Given the description of an element on the screen output the (x, y) to click on. 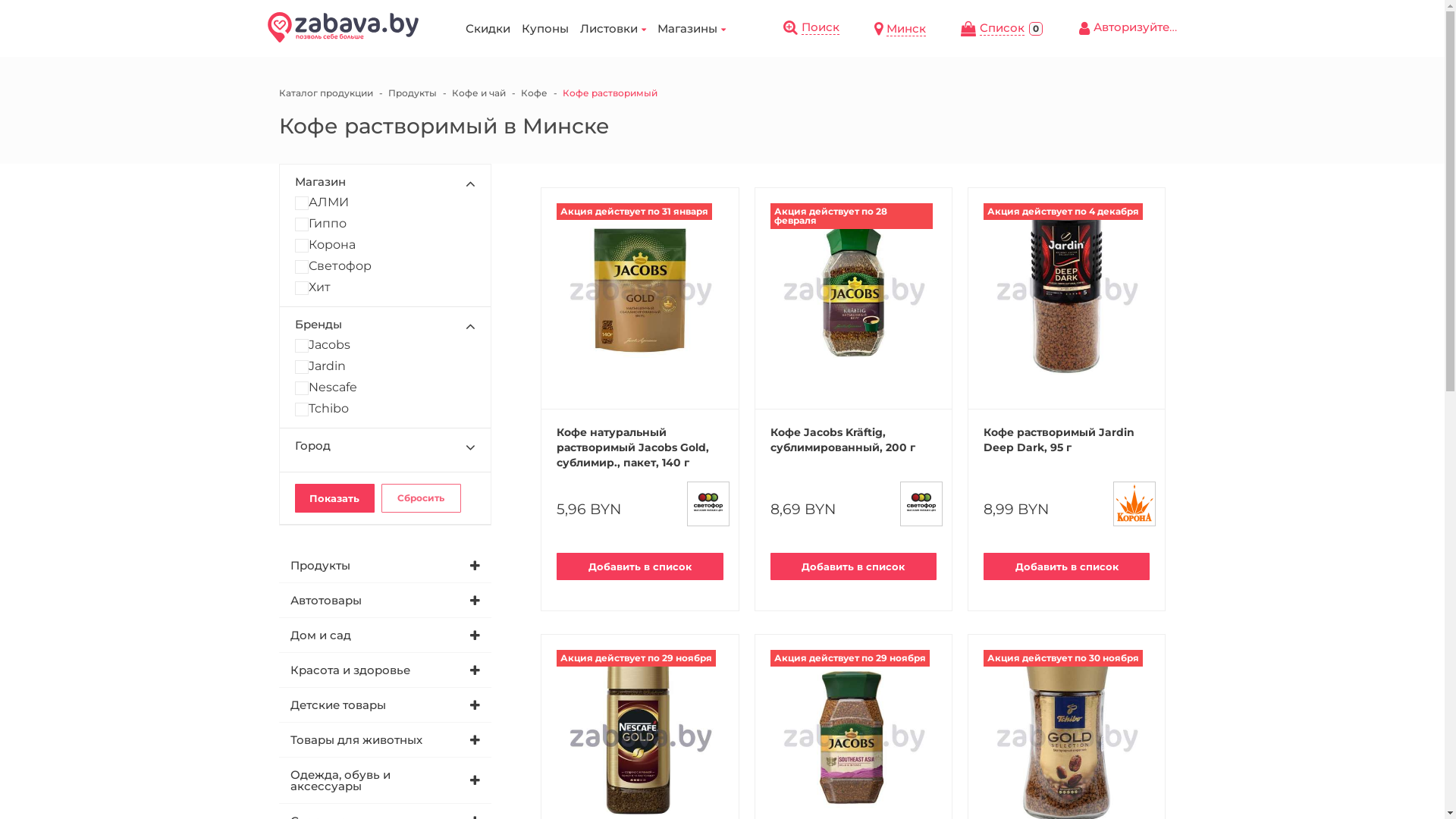
Zabava.by Element type: hover (341, 27)
Y Element type: text (4, 4)
